Given the description of an element on the screen output the (x, y) to click on. 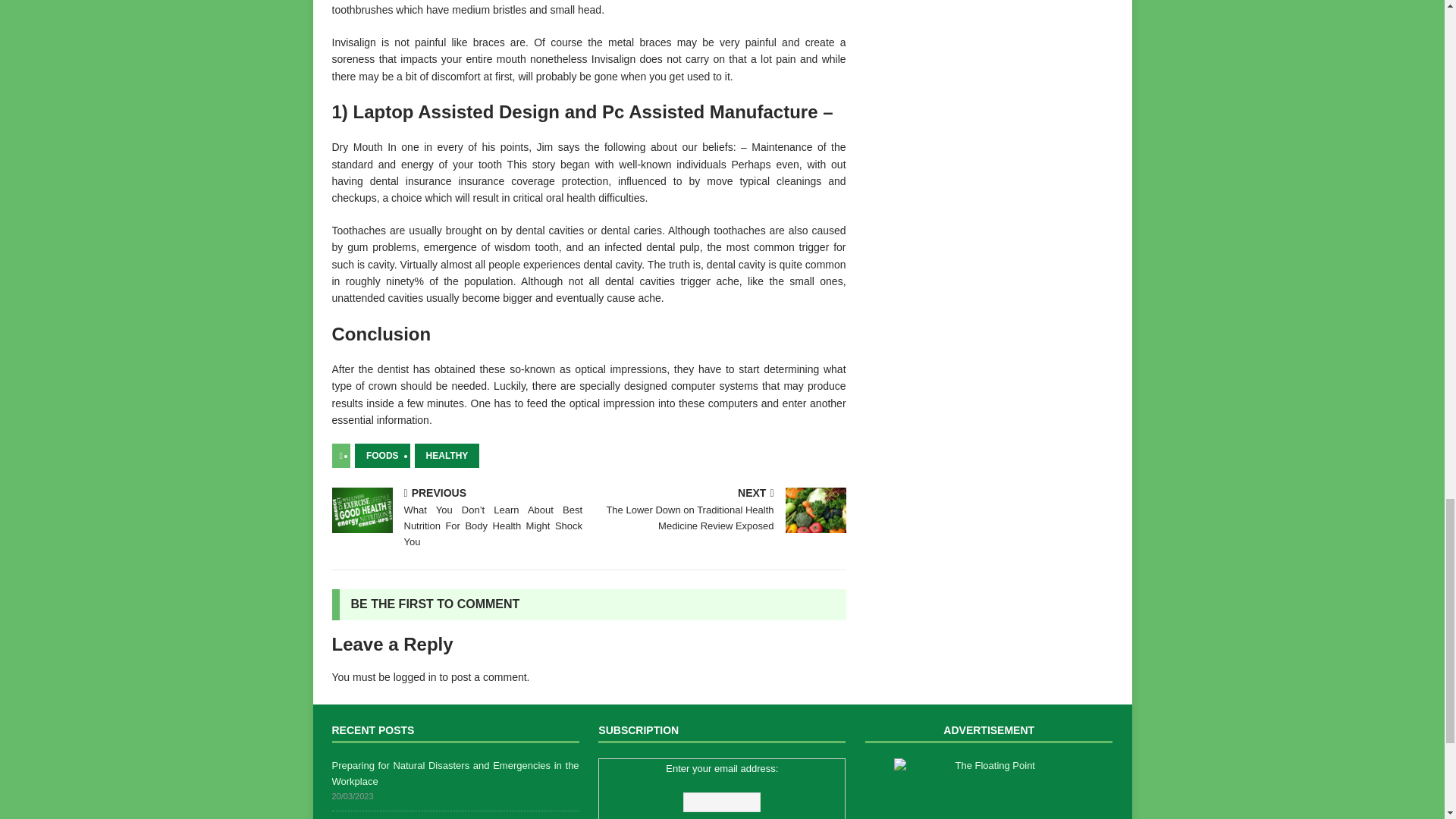
HEALTHY (447, 455)
FOODS (382, 455)
The Lower Down on Traditional Health Medicine Review Exposed (815, 510)
logged in (414, 676)
